Given the description of an element on the screen output the (x, y) to click on. 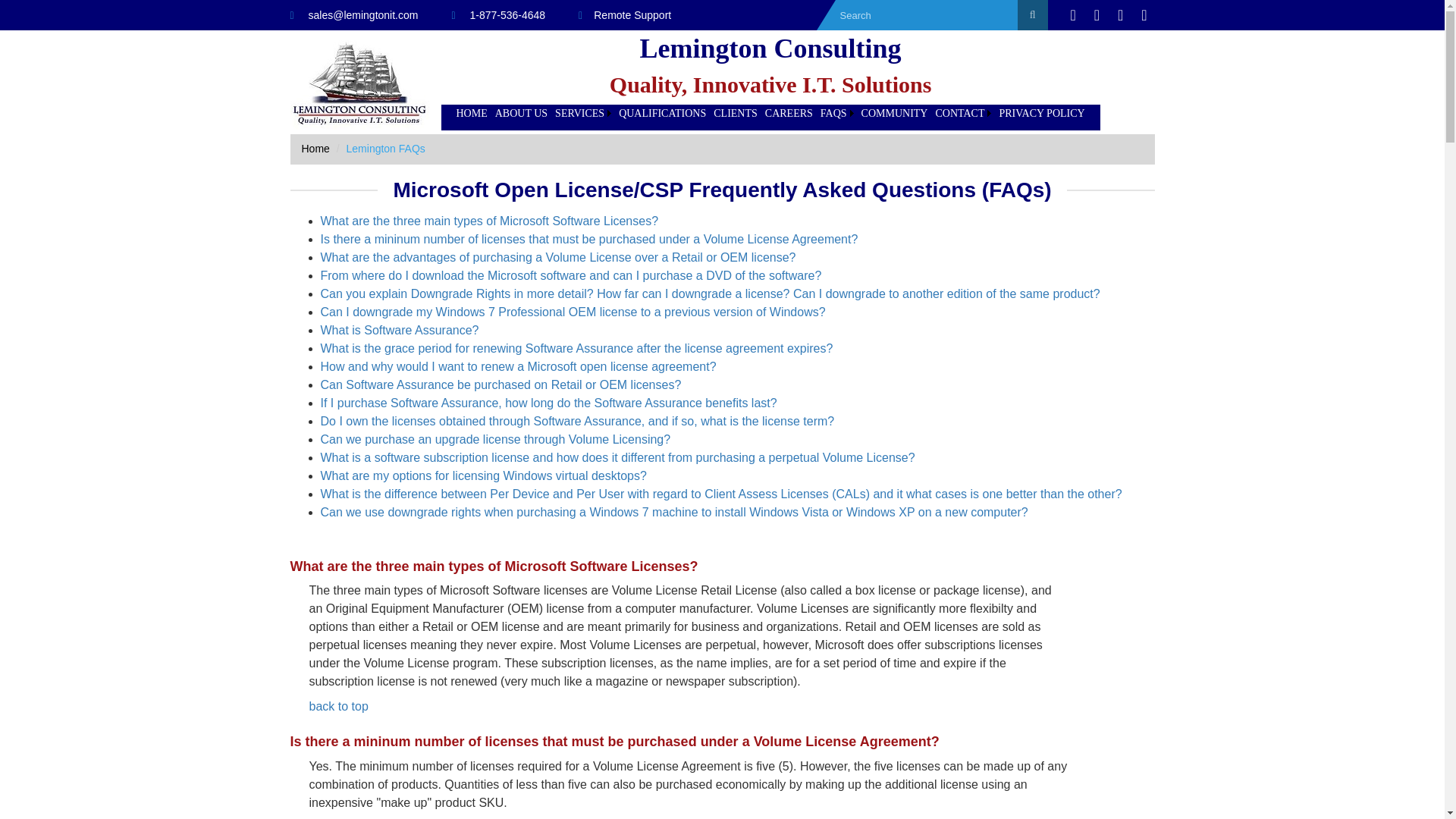
1-877-536-4648 (497, 15)
Remote Support (624, 15)
HOME (470, 113)
ABOUT US (521, 113)
SERVICES (582, 113)
